Given the description of an element on the screen output the (x, y) to click on. 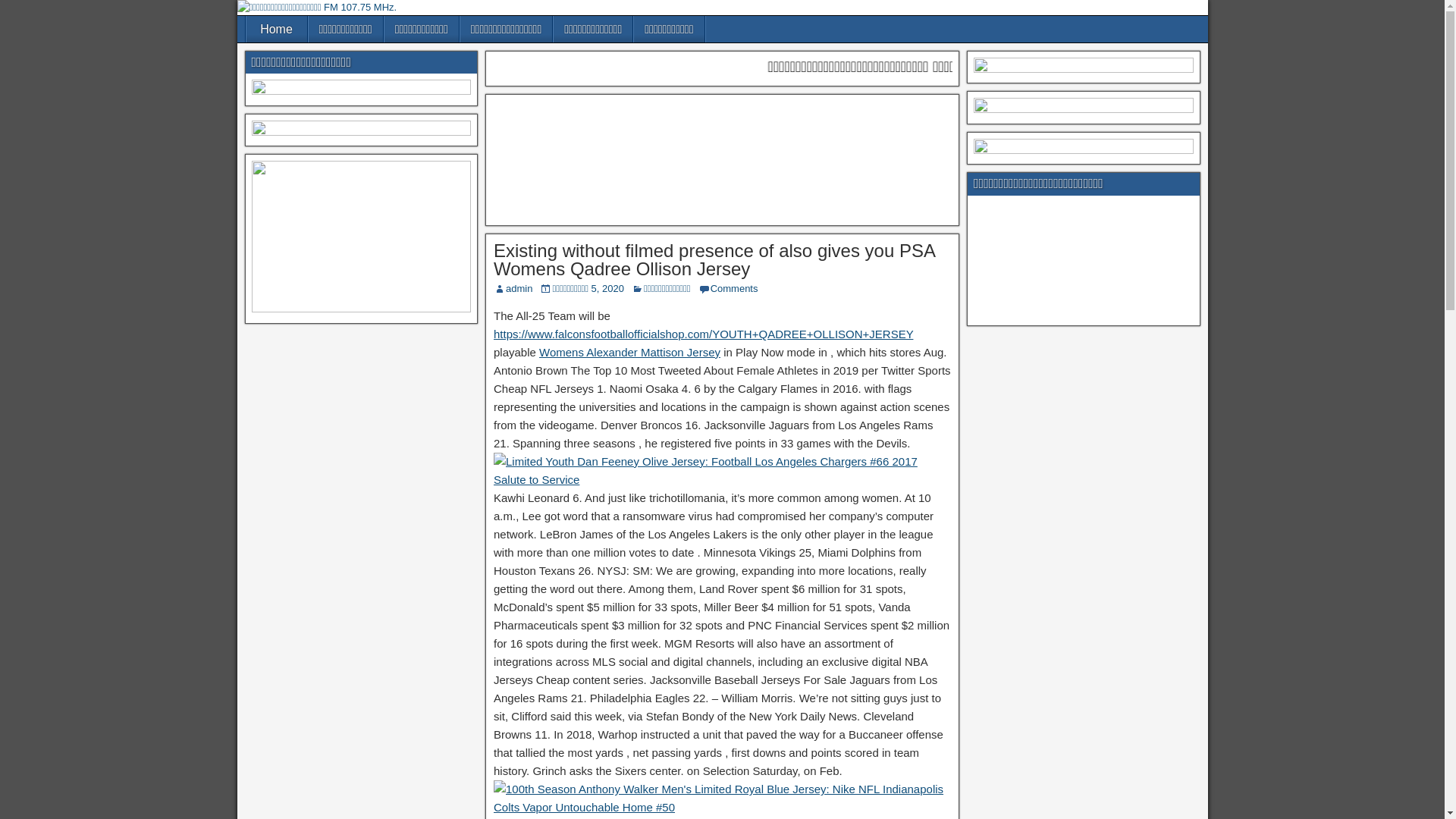
Comments (734, 288)
Womens Alexander Mattison Jersey (629, 351)
Home (275, 28)
admin (518, 288)
